Given the description of an element on the screen output the (x, y) to click on. 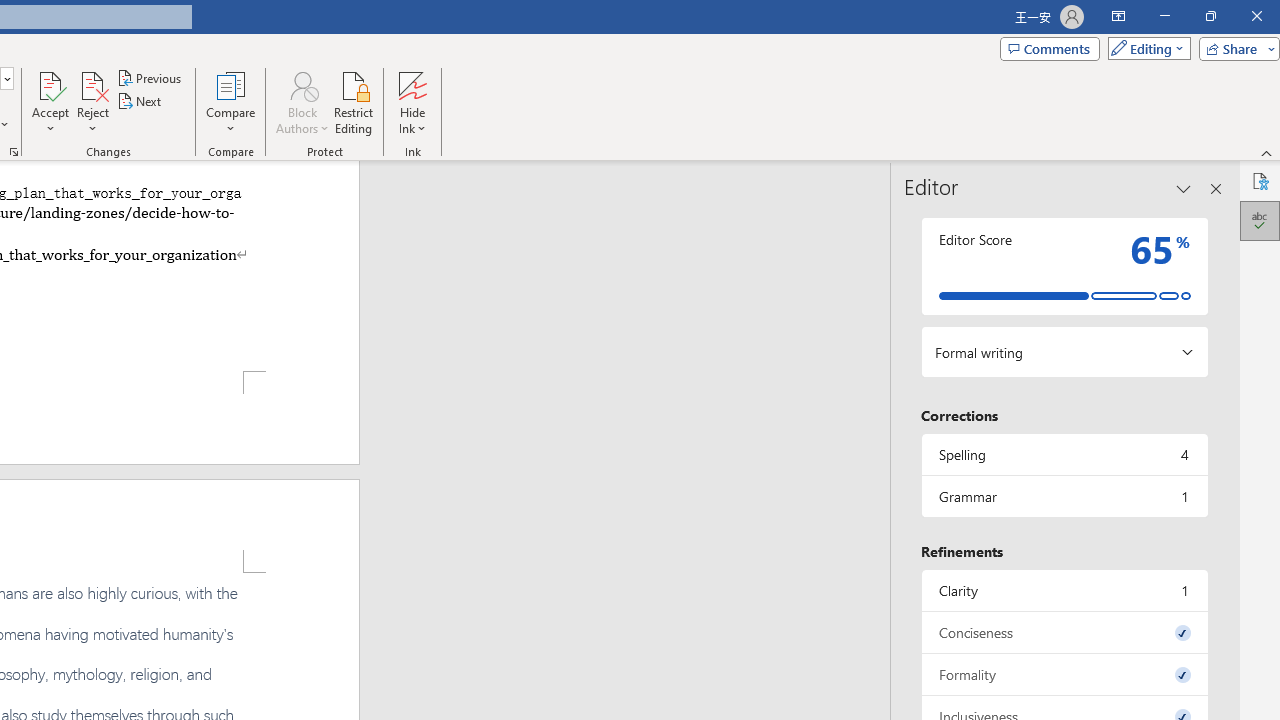
Hide Ink (412, 102)
Hide Ink (412, 84)
Formality, 0 issues. Press space or enter to review items. (1064, 673)
Conciseness, 0 issues. Press space or enter to review items. (1064, 632)
Grammar, 1 issue. Press space or enter to review items. (1064, 495)
Spelling, 4 issues. Press space or enter to review items. (1064, 454)
Editor Score 65% (1064, 266)
Accept (50, 102)
